Given the description of an element on the screen output the (x, y) to click on. 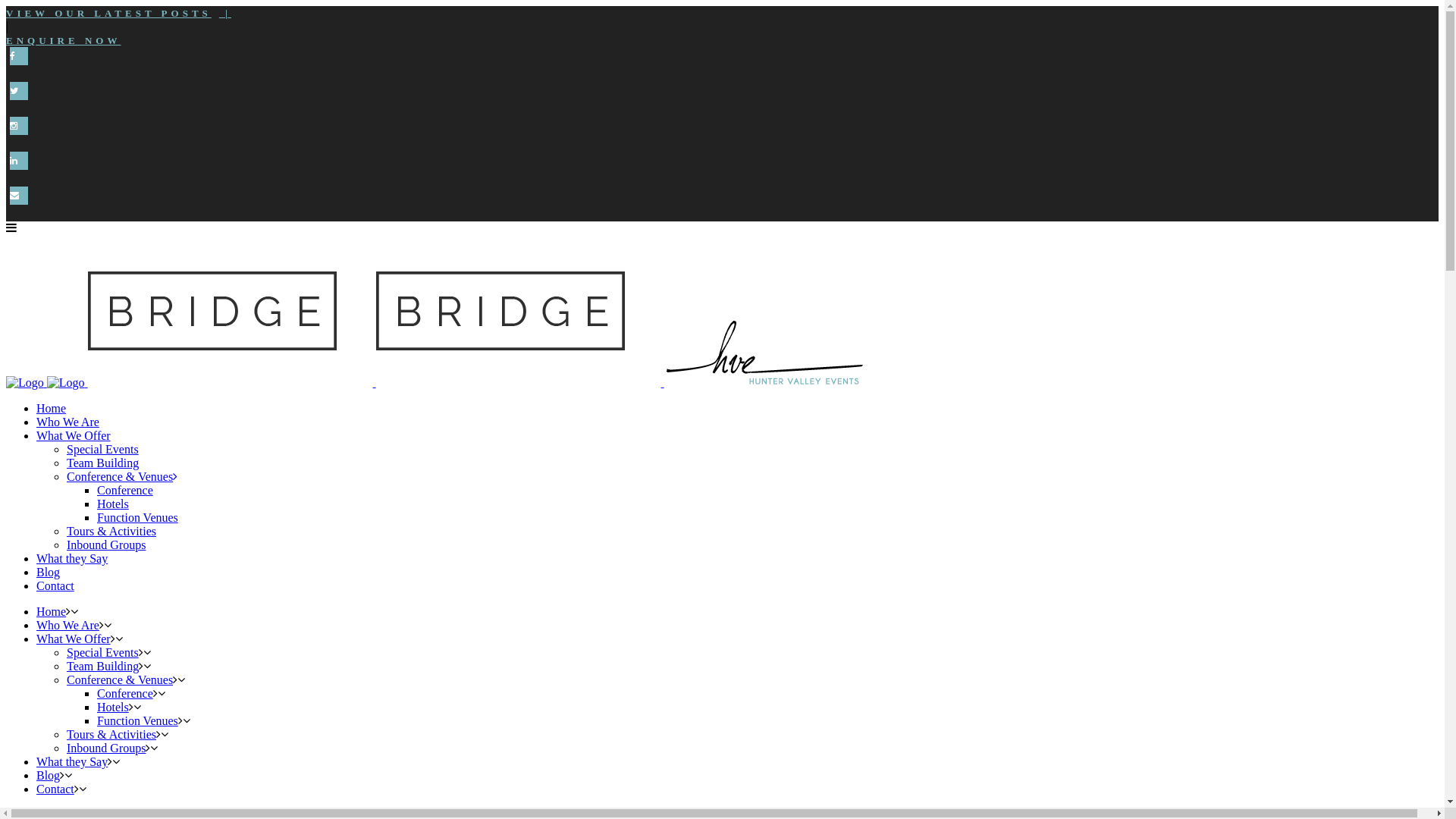
Hotels Element type: text (112, 706)
Special Events Element type: text (102, 448)
Conference & Venues Element type: text (119, 679)
Who We Are Element type: text (67, 421)
Tours & Activities Element type: text (111, 734)
Function Venues Element type: text (137, 720)
What they Say Element type: text (71, 761)
Contact Element type: text (55, 585)
VIEW OUR LATEST POSTS | Element type: text (118, 12)
Inbound Groups Element type: text (105, 747)
Special Events Element type: text (102, 652)
What We Offer Element type: text (73, 638)
Home Element type: text (50, 611)
What We Offer Element type: text (73, 435)
Tours & Activities Element type: text (111, 530)
Home Element type: text (50, 407)
Conference Element type: text (125, 489)
Conference & Venues Element type: text (121, 476)
Contact Element type: text (55, 788)
Function Venues Element type: text (137, 517)
Inbound Groups Element type: text (105, 544)
Conference Element type: text (125, 693)
ENQUIRE NOW Element type: text (63, 40)
Team Building Element type: text (102, 665)
Blog Element type: text (47, 774)
Hotels Element type: text (112, 503)
Team Building Element type: text (102, 462)
What they Say Element type: text (71, 558)
Who We Are Element type: text (67, 624)
Blog Element type: text (47, 571)
